Given the description of an element on the screen output the (x, y) to click on. 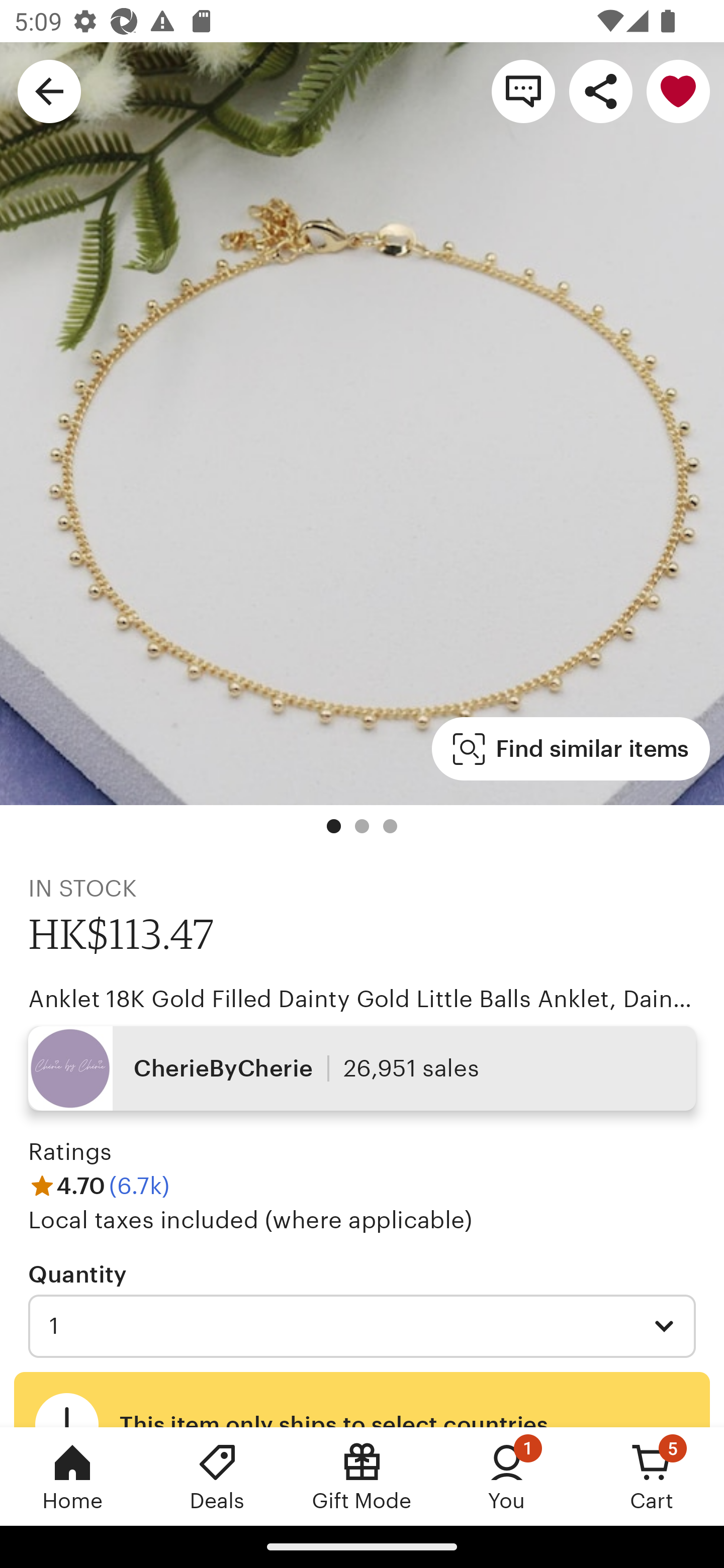
Navigate up (49, 90)
Contact shop (523, 90)
Share (600, 90)
Find similar items (571, 748)
CherieByCherie 26,951 sales (361, 1067)
Ratings (70, 1151)
4.70 (6.7k) (99, 1185)
Quantity (77, 1273)
1 (361, 1326)
Deals (216, 1475)
Gift Mode (361, 1475)
You, 1 new notification You (506, 1475)
Cart, 5 new notifications Cart (651, 1475)
